Given the description of an element on the screen output the (x, y) to click on. 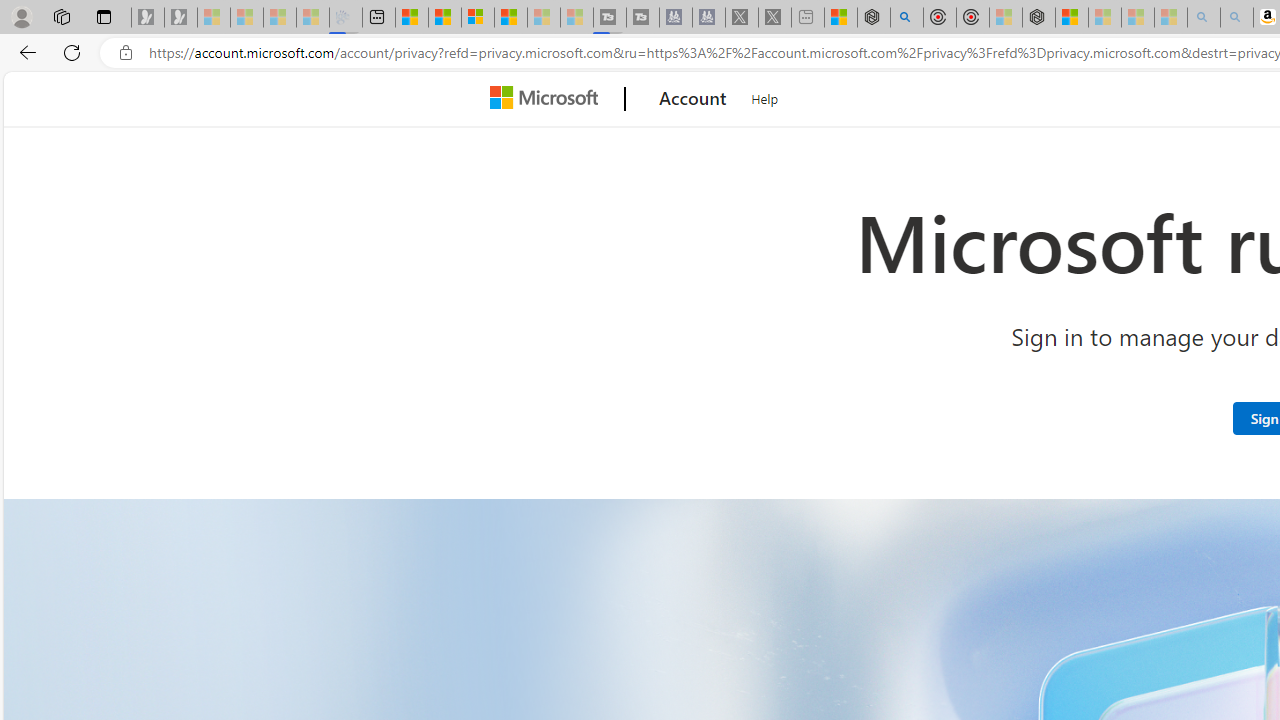
Newsletter Sign Up - Sleeping (181, 17)
Microsoft (548, 99)
Amazon Echo Dot PNG - Search Images - Sleeping (1237, 17)
